Given the description of an element on the screen output the (x, y) to click on. 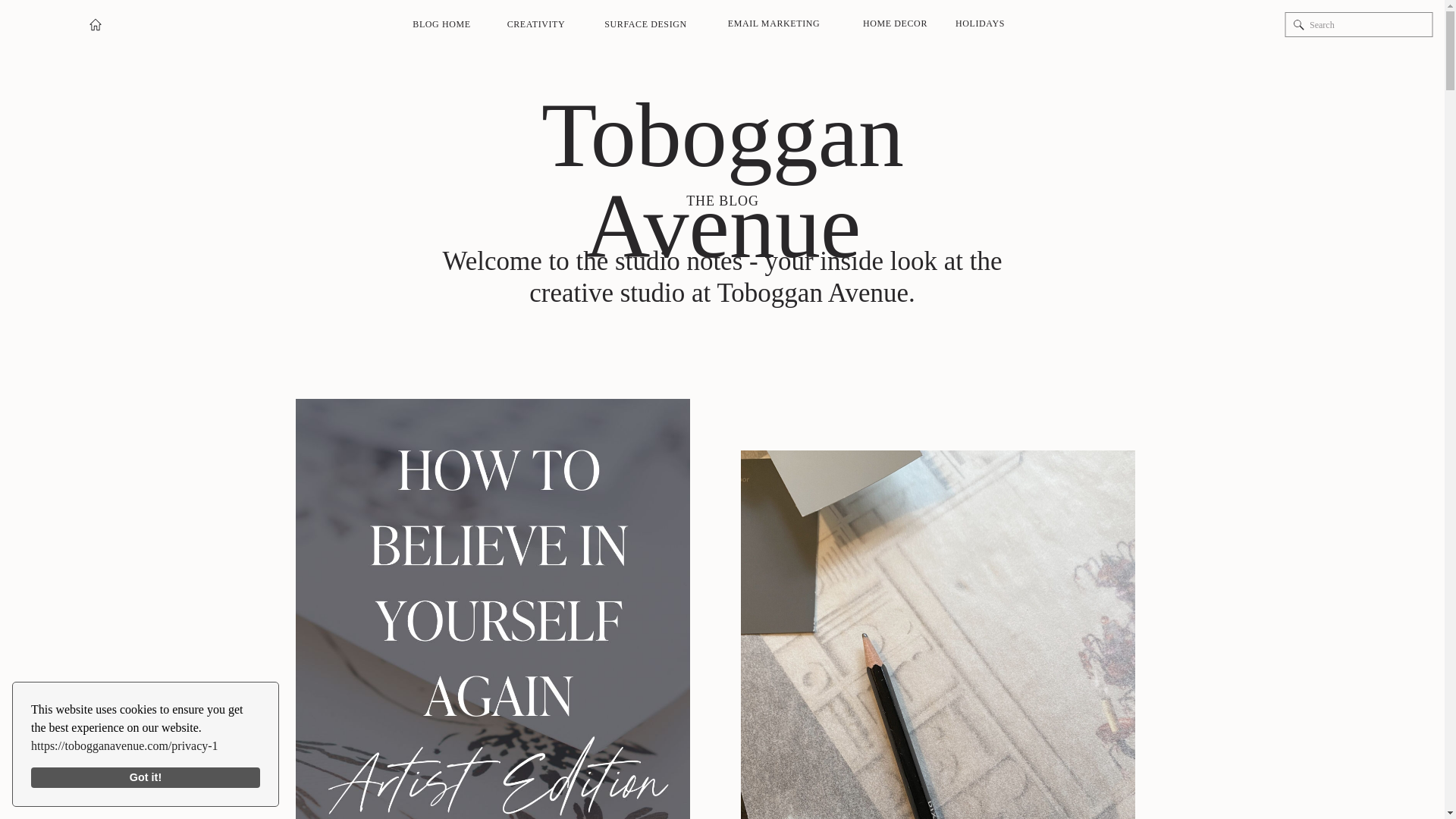
Toboggan Avenue (721, 135)
SURFACE DESIGN (645, 24)
HOLIDAYS (979, 23)
EMAIL MARKETING (773, 23)
BLOG HOME (441, 24)
HOME DECOR (894, 23)
CREATIVITY (535, 24)
Got it! (145, 777)
